Given the description of an element on the screen output the (x, y) to click on. 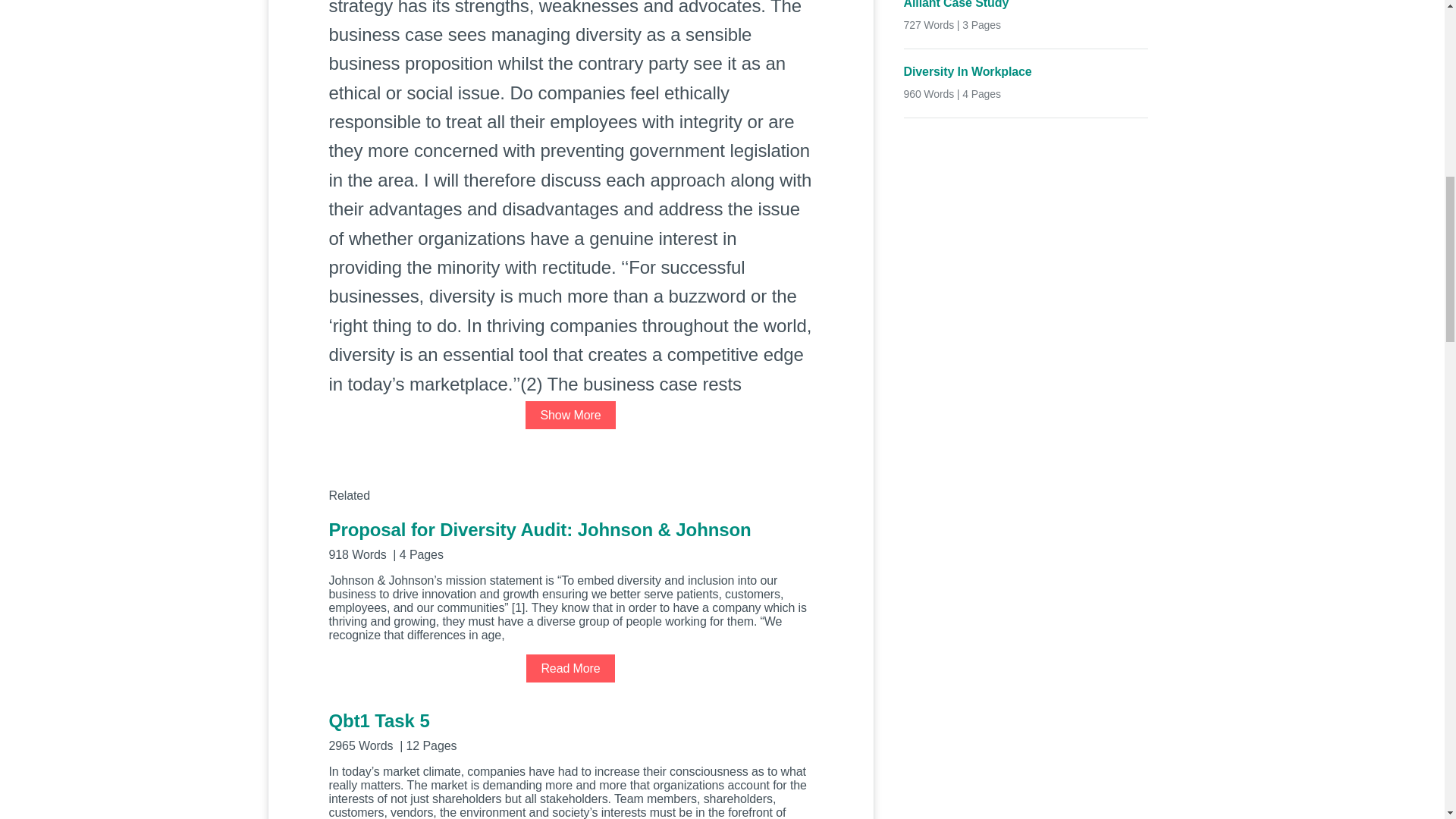
Qbt1 Task 5 (570, 730)
Show More (569, 415)
Diversity In Workplace (1026, 71)
Read More (569, 668)
Alliant Case Study (1026, 6)
